Given the description of an element on the screen output the (x, y) to click on. 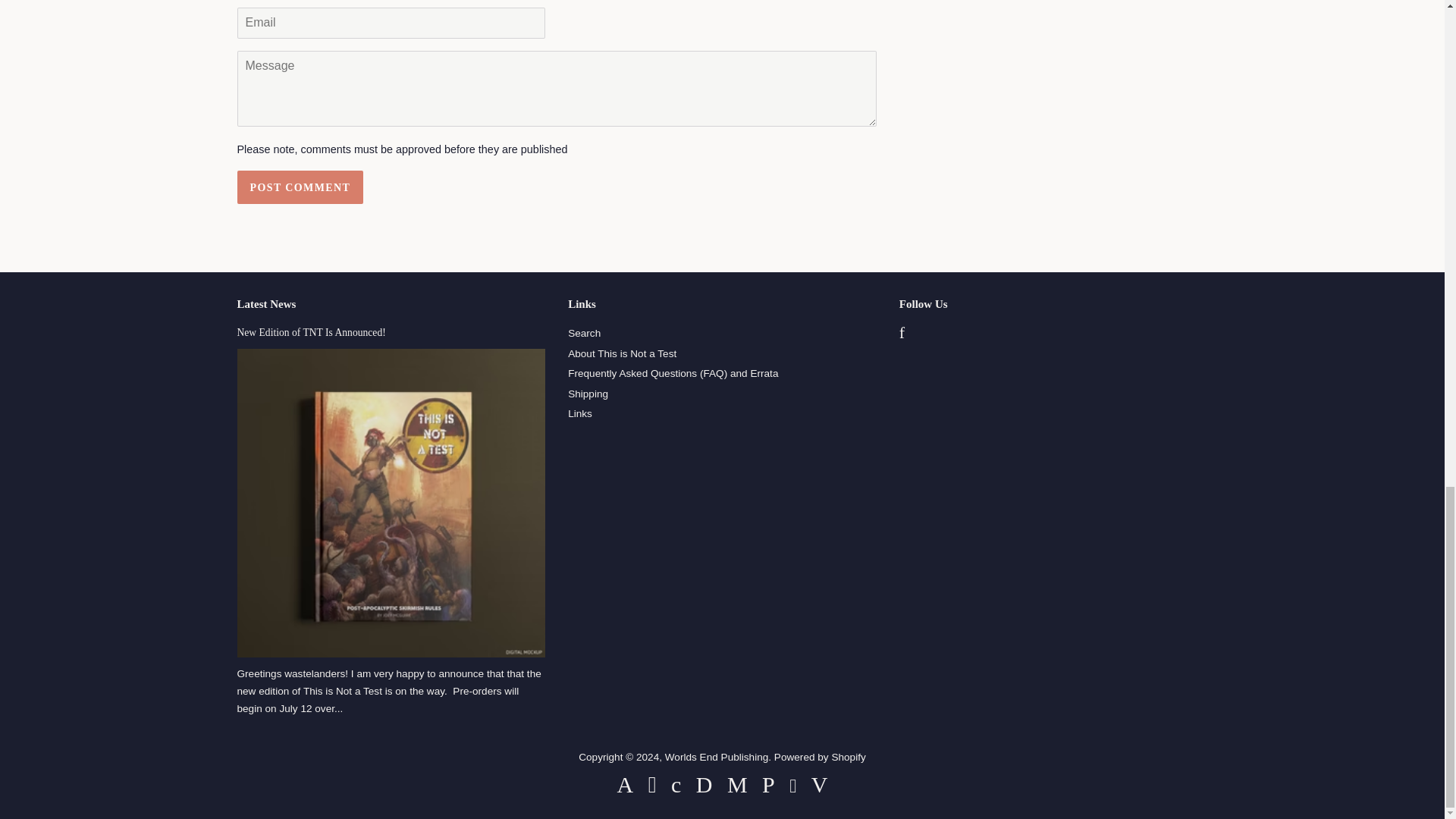
Worlds End Publishing (716, 756)
Shipping (587, 393)
Search (583, 333)
Powered by Shopify (820, 756)
Post comment (298, 186)
Links (579, 413)
Post comment (298, 186)
New Edition of TNT Is Announced! (310, 332)
Latest News (265, 304)
About This is Not a Test (622, 353)
